Given the description of an element on the screen output the (x, y) to click on. 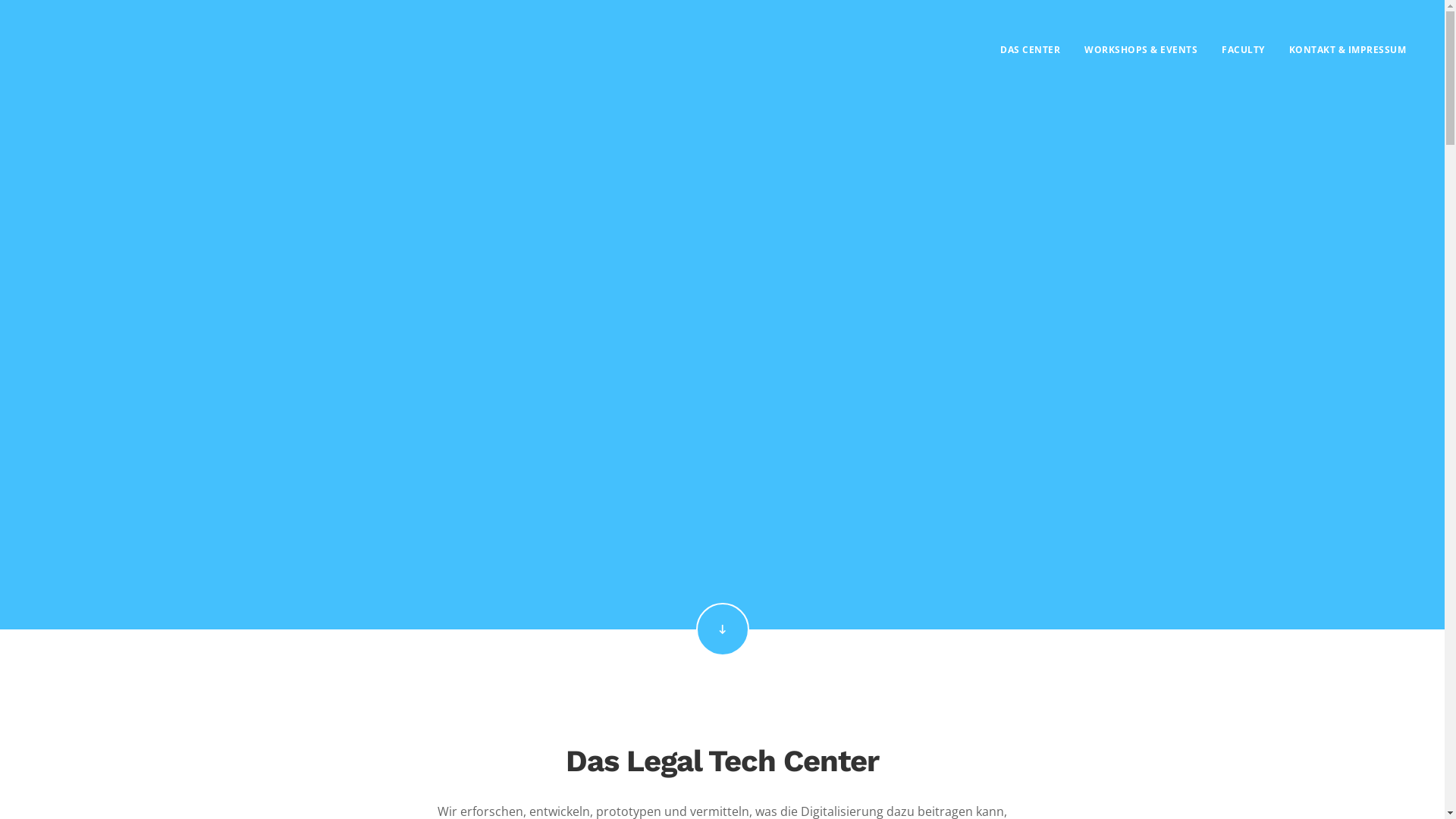
Scroll down Element type: hover (722, 628)
DAS CENTER Element type: text (1030, 48)
FACULTY Element type: text (1243, 48)
WORKSHOPS & EVENTS Element type: text (1140, 48)
KONTAKT & IMPRESSUM Element type: text (1347, 48)
